Given the description of an element on the screen output the (x, y) to click on. 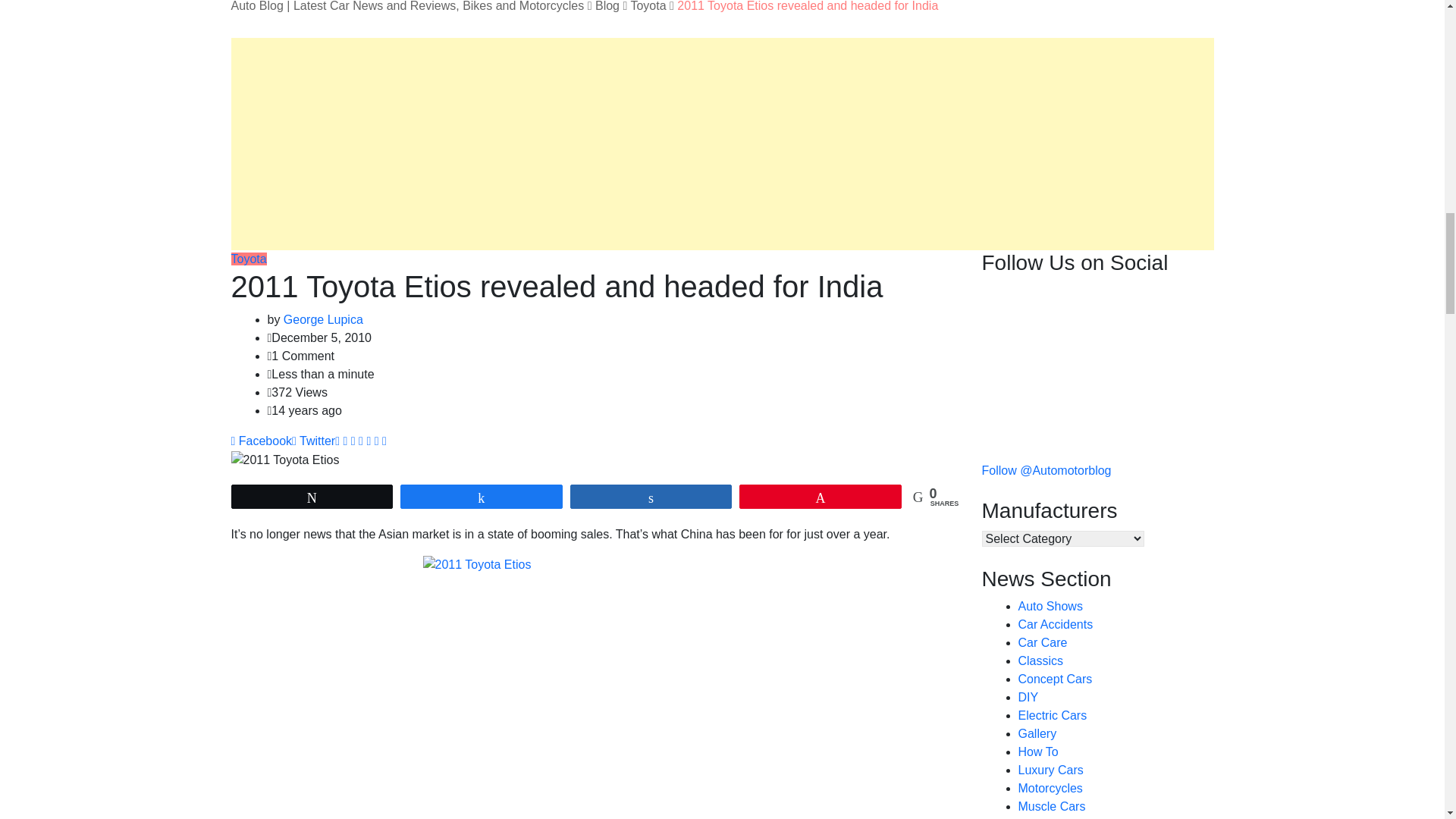
Go to Blog. (607, 6)
Posts by George Lupica (322, 318)
Go to the Toyota Category archives. (647, 6)
